Given the description of an element on the screen output the (x, y) to click on. 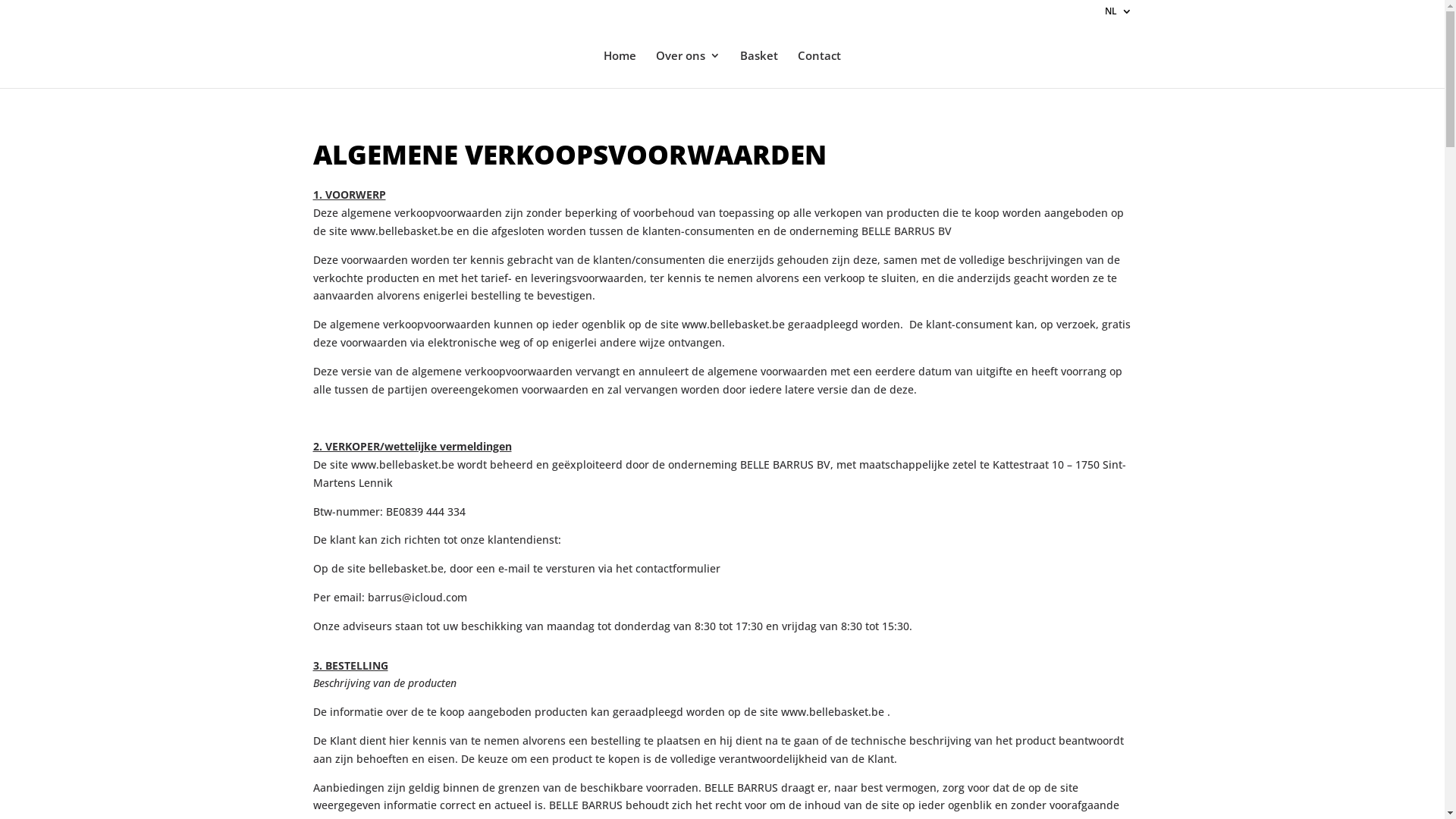
Contact Element type: text (818, 68)
www.bellebasket.be Element type: text (401, 230)
bellebasket.be Element type: text (405, 568)
barrus@icloud.com Element type: text (416, 596)
NL Element type: text (1117, 14)
www.bellebasket.be Element type: text (732, 323)
Over ons Element type: text (687, 68)
Basket Element type: text (759, 68)
Home Element type: text (619, 68)
www.bellebasket.be Element type: text (401, 464)
www.bellebasket.be Element type: text (832, 711)
